Given the description of an element on the screen output the (x, y) to click on. 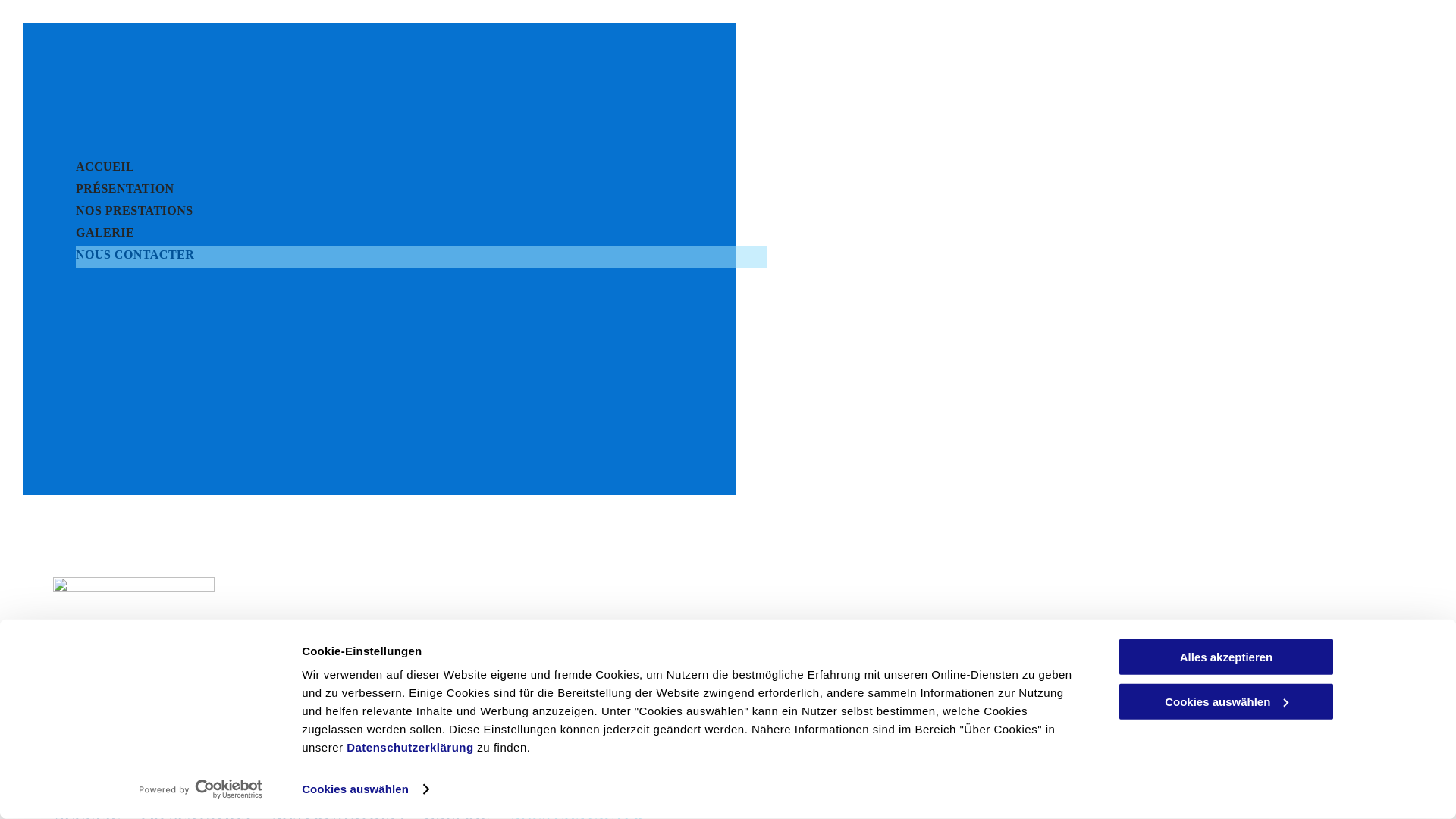
NOS PRESTATIONS Element type: text (420, 212)
ACCUEIL Element type: text (420, 168)
GALERIE Element type: text (420, 234)
NOUS CONTACTER Element type: text (420, 256)
Alles akzeptieren Element type: text (1225, 656)
